Given the description of an element on the screen output the (x, y) to click on. 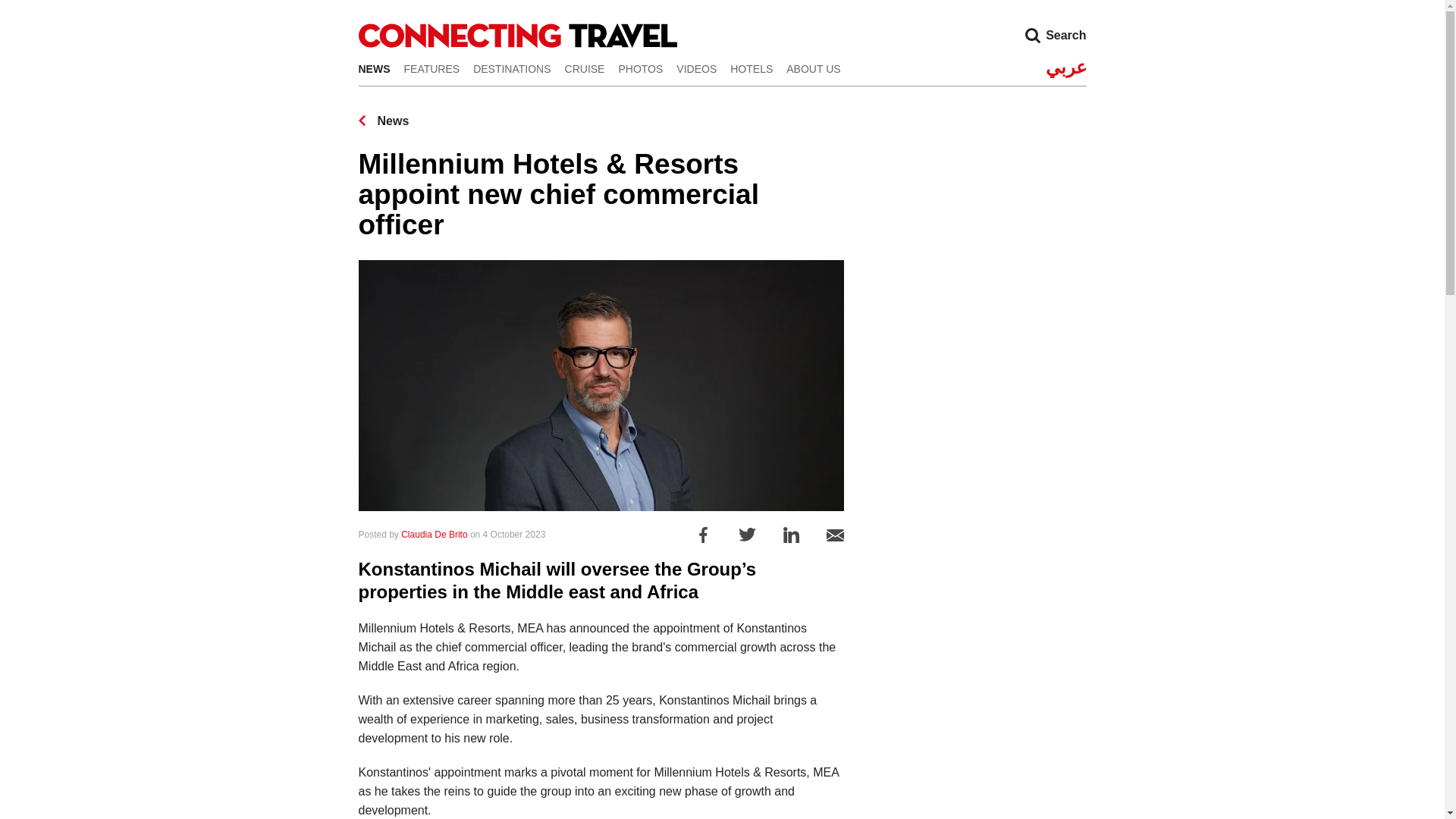
NEWS (374, 68)
FEATURES (431, 68)
CRUISE (584, 68)
Search (1032, 35)
Share on Twitter (746, 534)
Share on Facebook (702, 534)
Claudia De Brito (434, 534)
PHOTOS (639, 68)
News (383, 121)
HOTELS (751, 68)
